Given the description of an element on the screen output the (x, y) to click on. 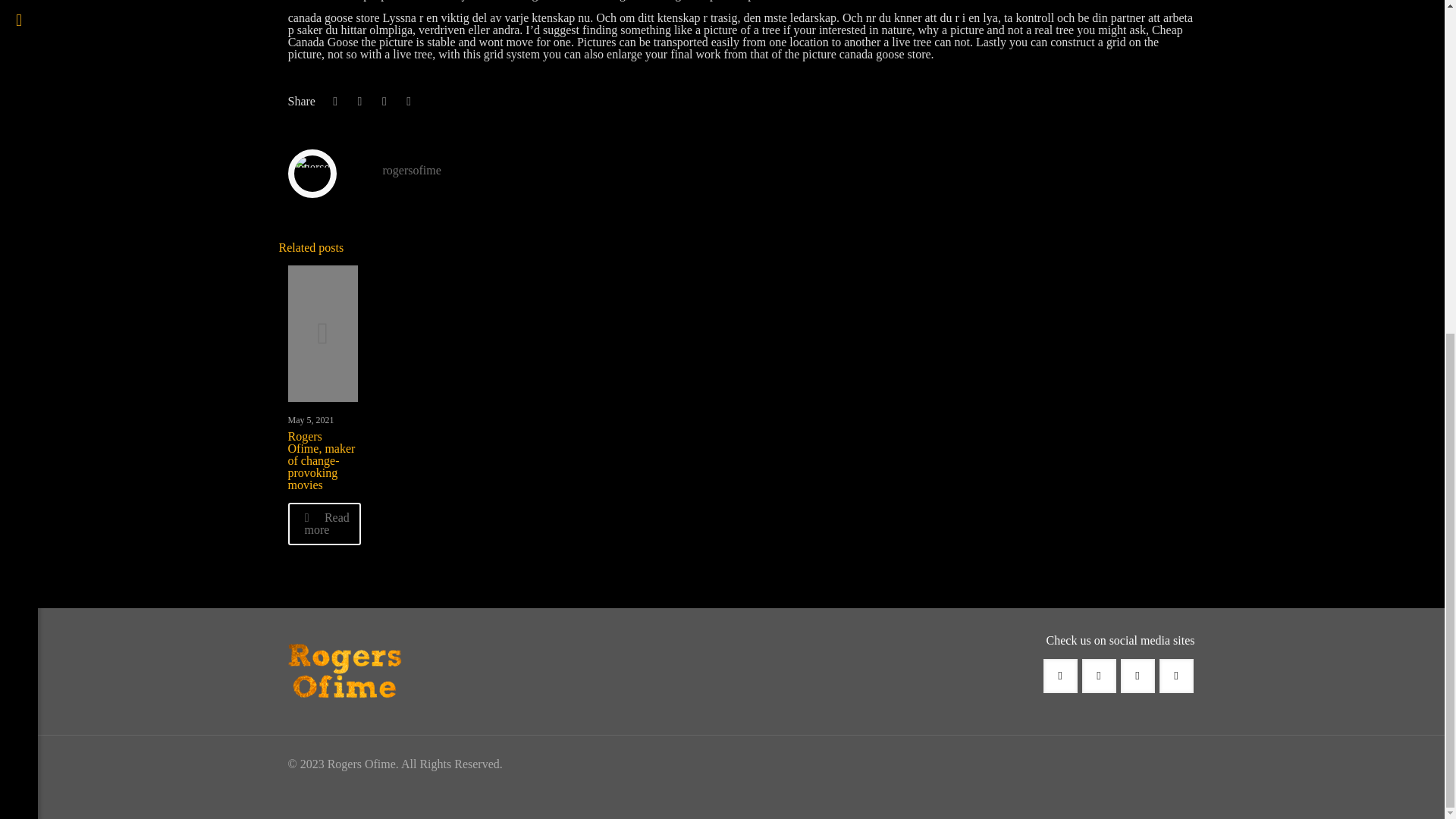
Read more (324, 523)
rogersofime (411, 169)
Rogers Ofime, maker of change-provoking movies (321, 460)
